Given the description of an element on the screen output the (x, y) to click on. 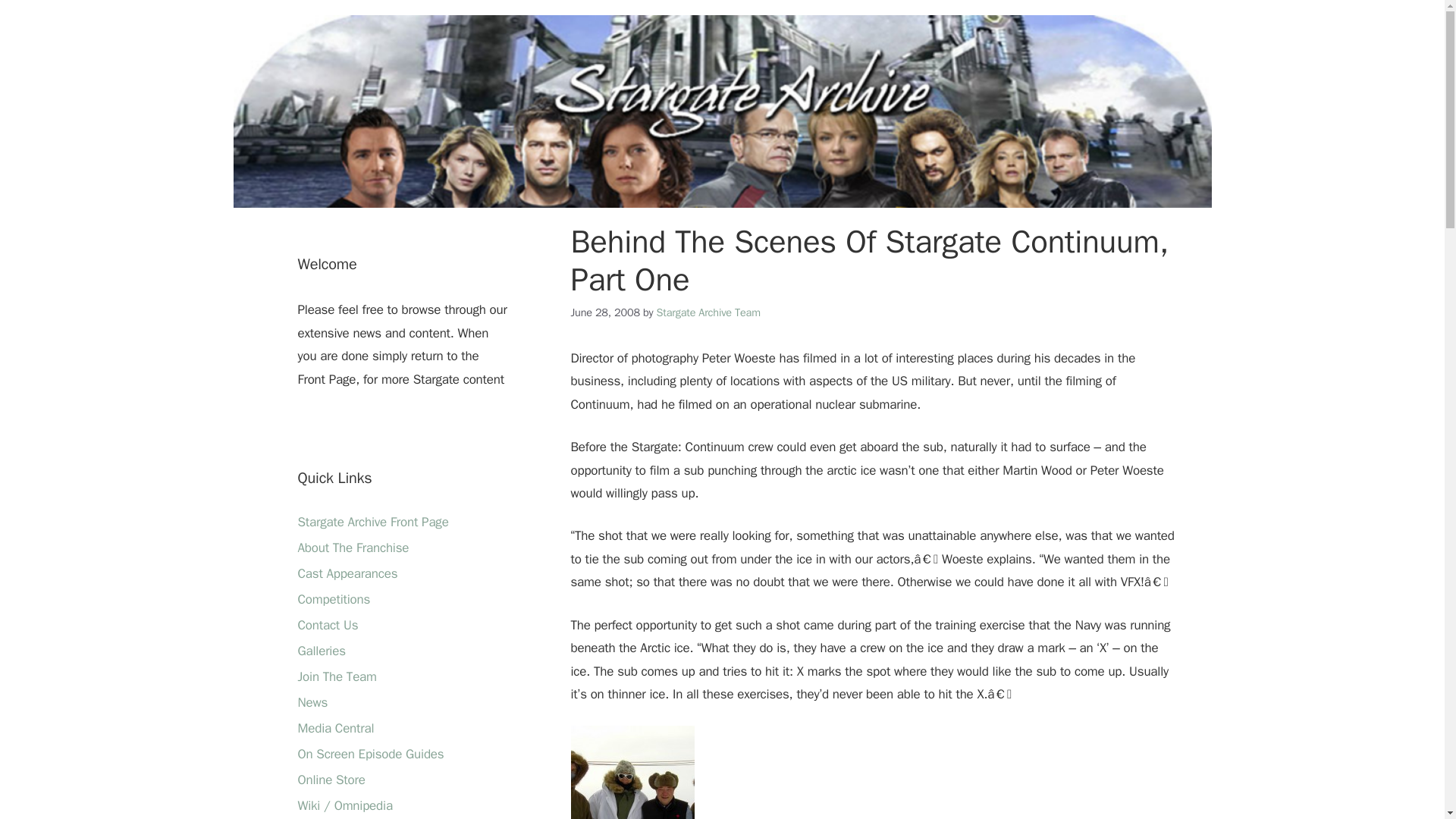
On Screen Episode Guides (370, 754)
View all posts by Stargate Archive Team (708, 312)
Media Central (335, 728)
Contact Us (327, 625)
Online Store (331, 779)
Galleries (321, 650)
Competitions (333, 599)
About The Franchise (353, 547)
Cast Appearances (347, 573)
Stargate Archive Front Page (372, 521)
Stargate Archive Team (708, 312)
News (312, 702)
Join The Team (336, 676)
